Given the description of an element on the screen output the (x, y) to click on. 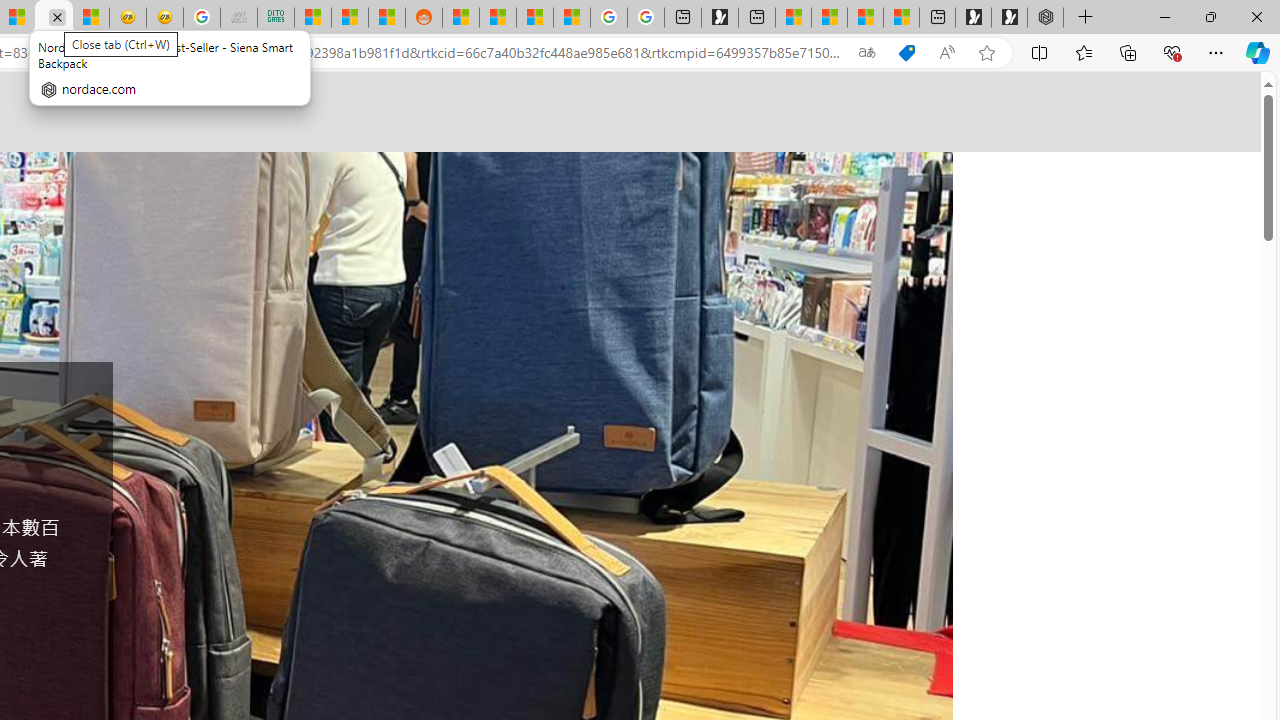
Play Free Online Games | Games from Microsoft Start (1009, 17)
Microsoft Start (865, 17)
Read aloud this page (Ctrl+Shift+U) (946, 53)
Collections (1128, 52)
Copilot (Ctrl+Shift+.) (1258, 52)
Show translate options (867, 53)
Close (1256, 16)
Settings and more (Alt+F) (1215, 52)
This site has coupons! Shopping in Microsoft Edge (906, 53)
Split screen (1039, 52)
Favorites (1083, 52)
New tab (937, 17)
Restore (1210, 16)
